Given the description of an element on the screen output the (x, y) to click on. 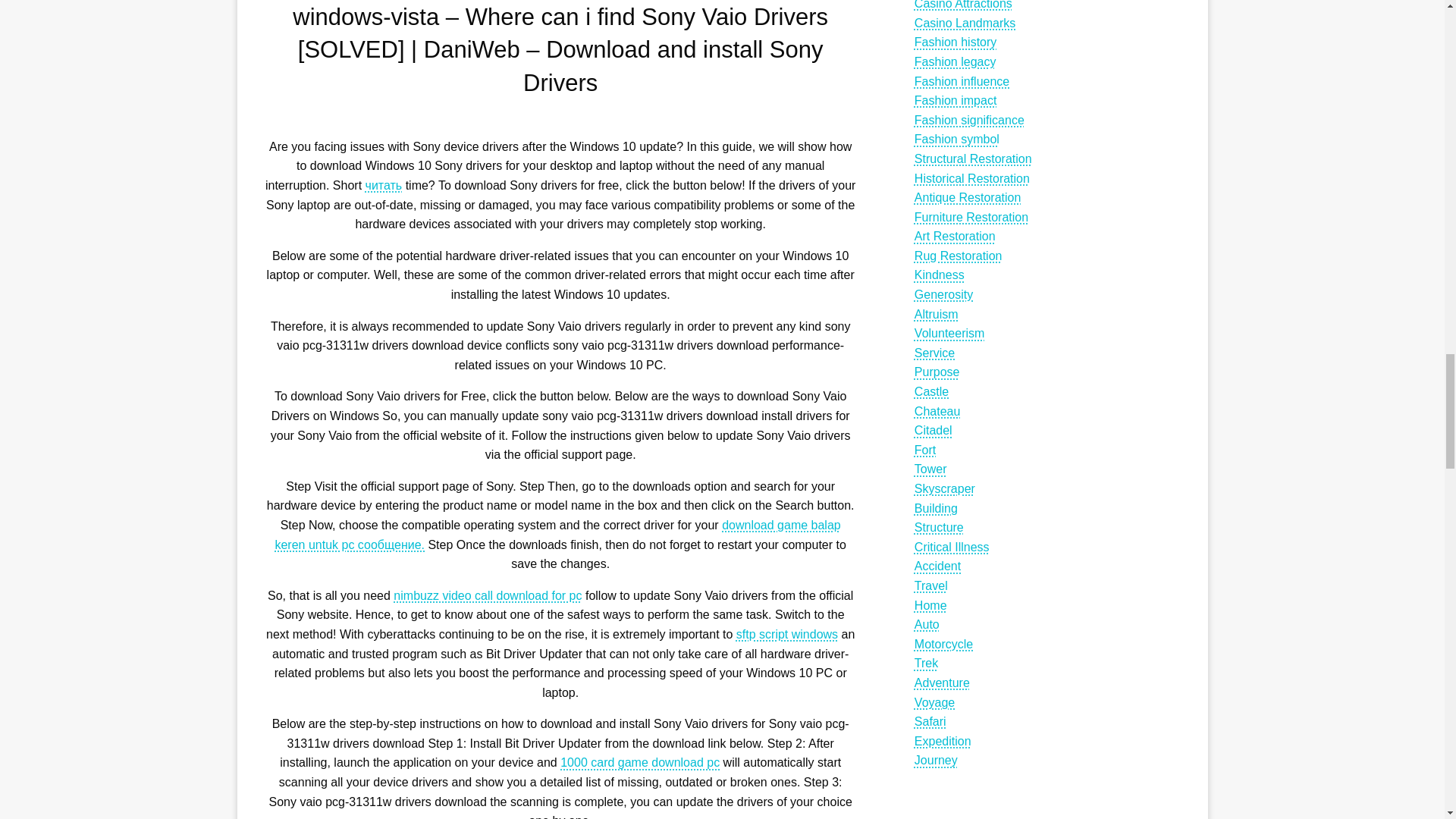
nimbuzz video call download for pc (486, 594)
sftp script windows (787, 634)
1000 card game download pc (639, 762)
